Given the description of an element on the screen output the (x, y) to click on. 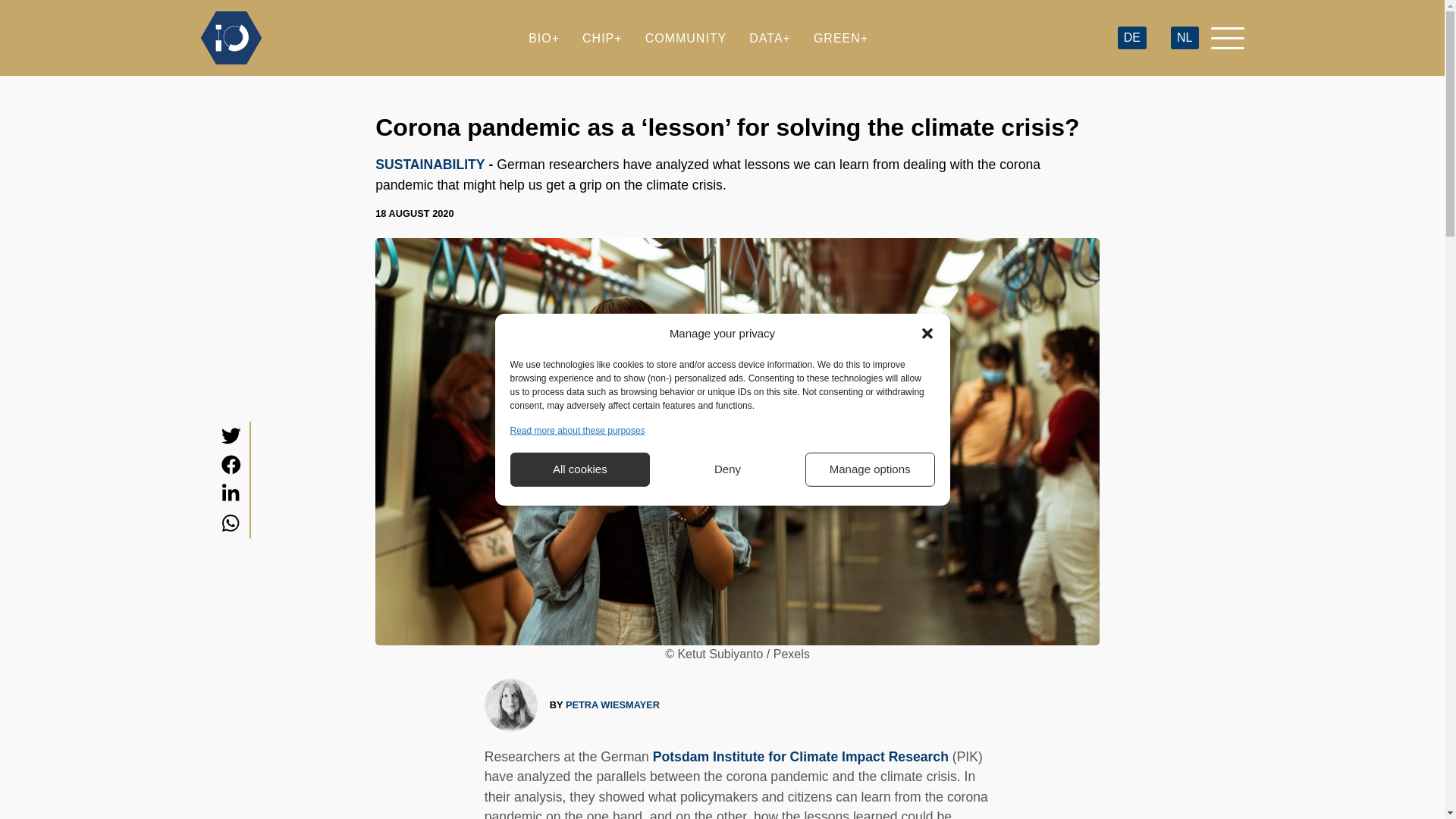
Manage options (869, 469)
All cookies (579, 469)
NL (1184, 37)
Tweet this (231, 435)
Share on Facebook (231, 464)
Read more about these purposes (577, 429)
Deny (727, 469)
DE (1132, 37)
COMMUNITY (685, 38)
